Given the description of an element on the screen output the (x, y) to click on. 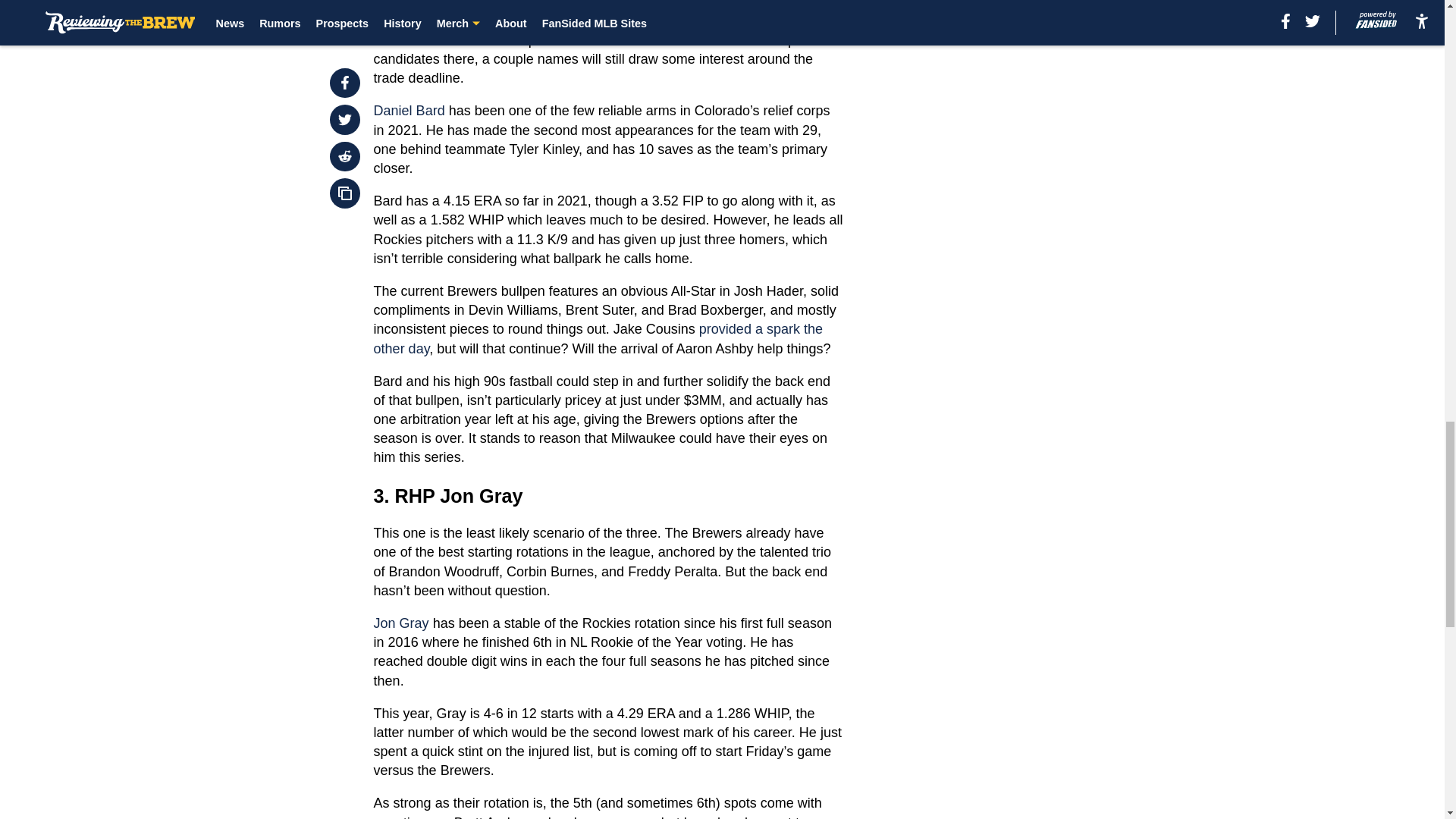
Jon Gray (401, 622)
Daniel Bard (409, 110)
provided a spark the other day (598, 338)
